Given the description of an element on the screen output the (x, y) to click on. 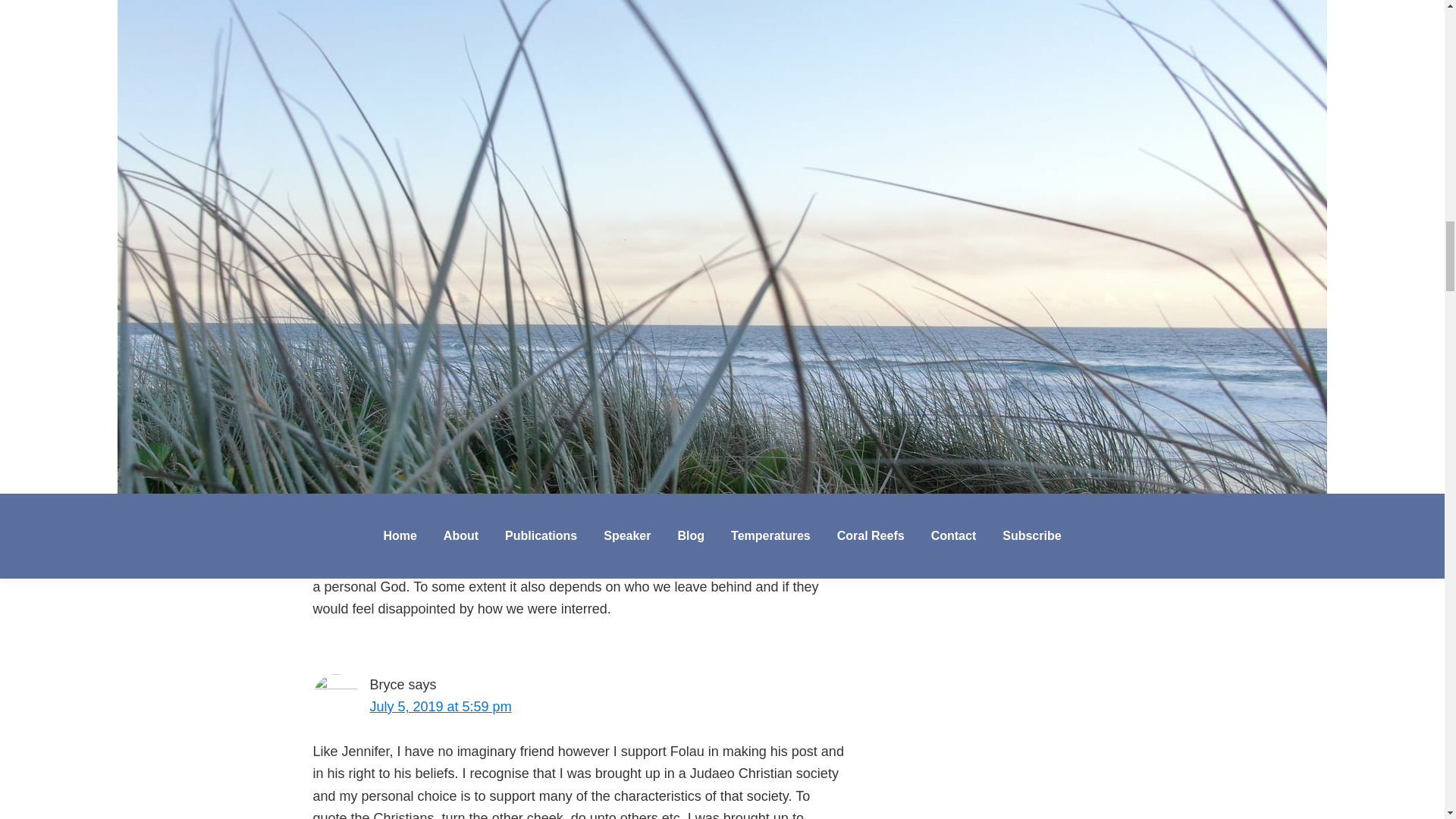
July 5, 2019 at 5:59 pm (440, 706)
Mike (383, 431)
July 5, 2019 at 2:22 pm (440, 453)
